Given the description of an element on the screen output the (x, y) to click on. 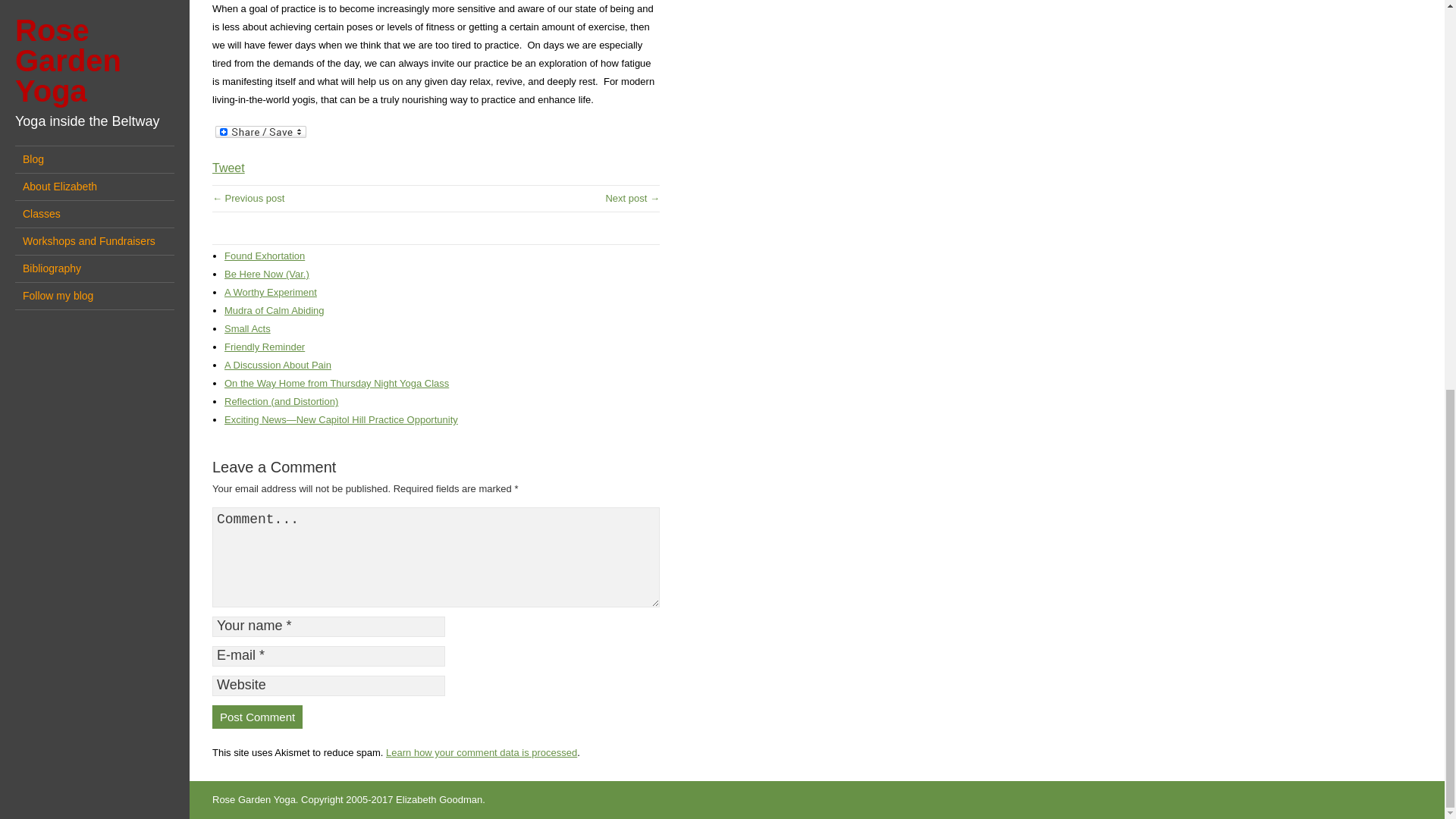
Friendly Reminder (264, 346)
Found Exhortation (264, 255)
Post Comment (257, 716)
Cut Roses (247, 197)
Tweet (228, 167)
Last Saturday at the Arboretum (632, 197)
Mudra of Calm Abiding (274, 310)
A Discussion About Pain (277, 365)
On the Way Home from Thursday Night Yoga Class (336, 383)
Learn how your comment data is processed (480, 752)
